Given the description of an element on the screen output the (x, y) to click on. 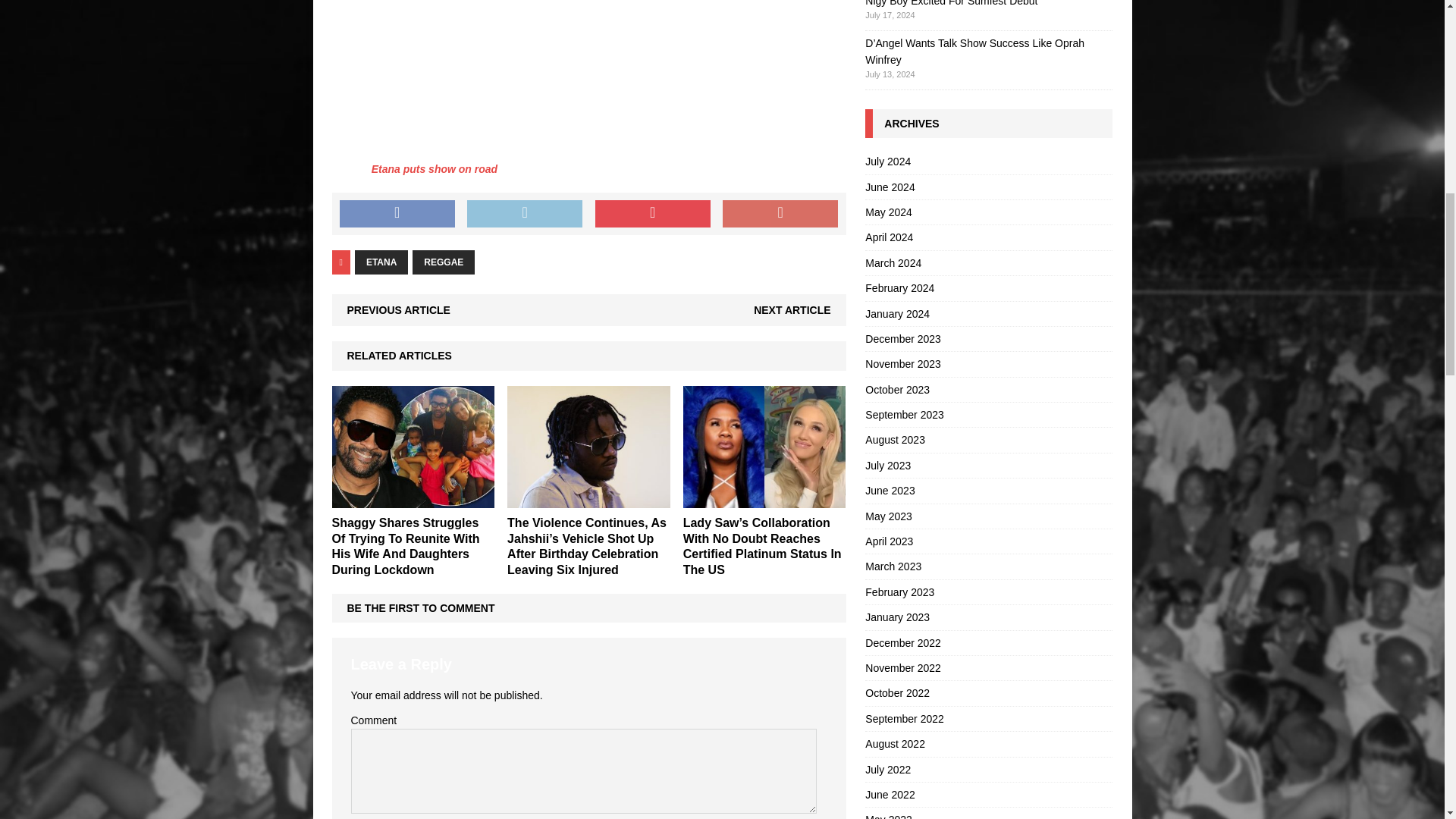
ETANA (381, 262)
REGGAE (443, 262)
Share on Facebook (396, 213)
PREVIOUS ARTICLE (398, 309)
NEXT ARTICLE (791, 309)
Pin This Post (652, 213)
Tweet This Post (524, 213)
Etana puts show on road (434, 168)
